Given the description of an element on the screen output the (x, y) to click on. 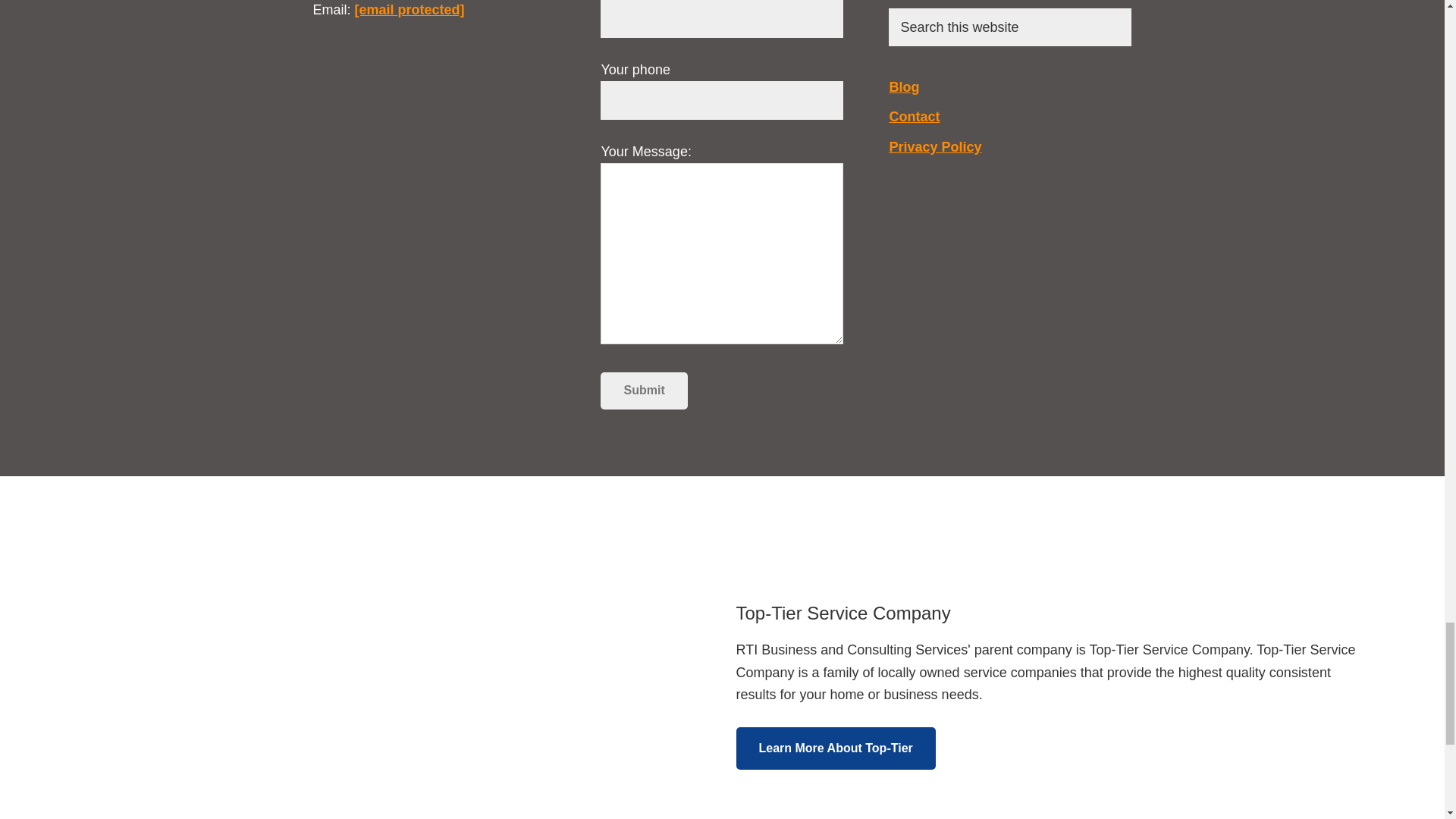
Submit (643, 390)
